Given the description of an element on the screen output the (x, y) to click on. 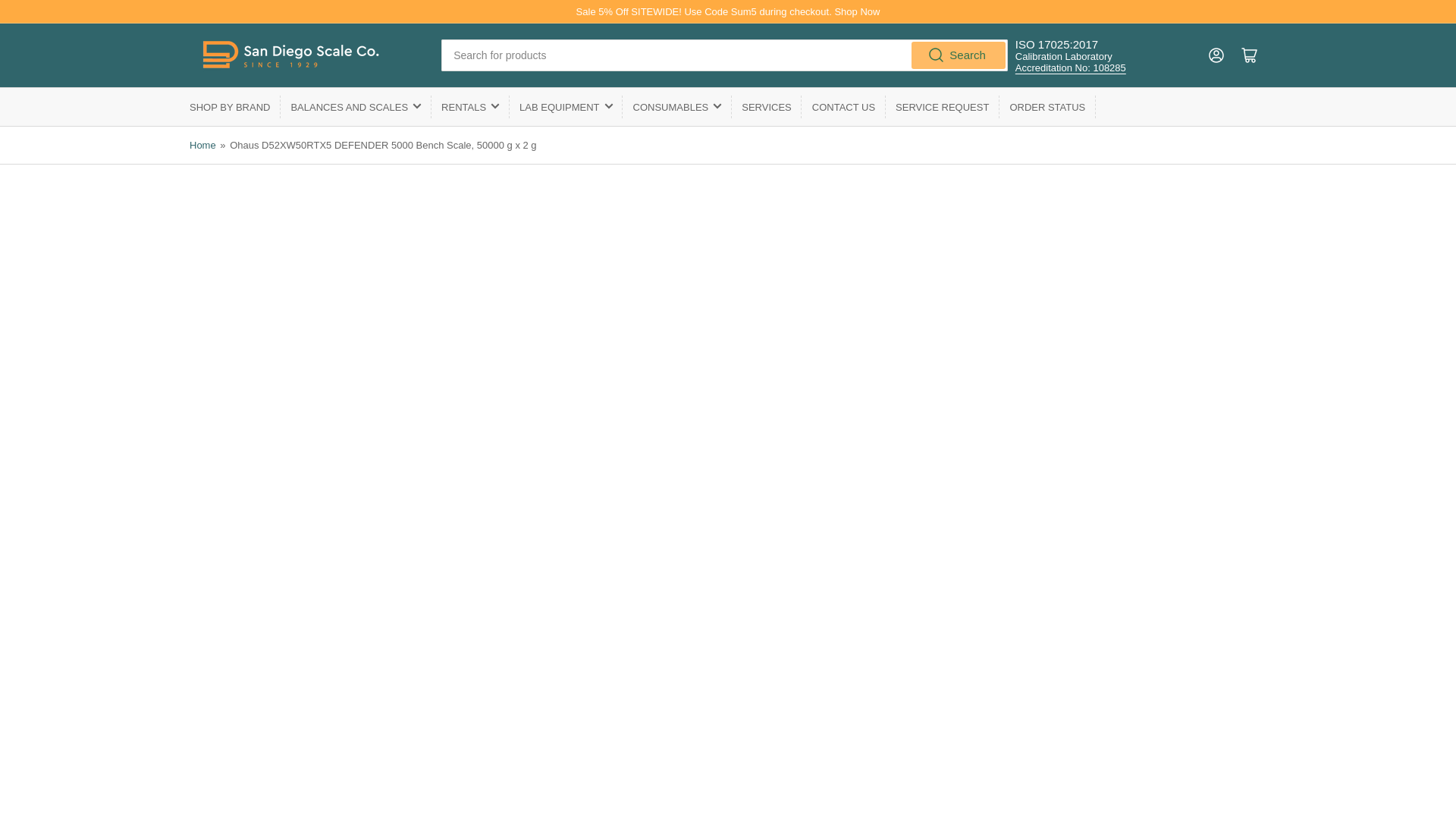
Accreditation No: 108285 (1069, 67)
Search (958, 54)
Log in (1216, 55)
Open mini cart (1249, 55)
